Given the description of an element on the screen output the (x, y) to click on. 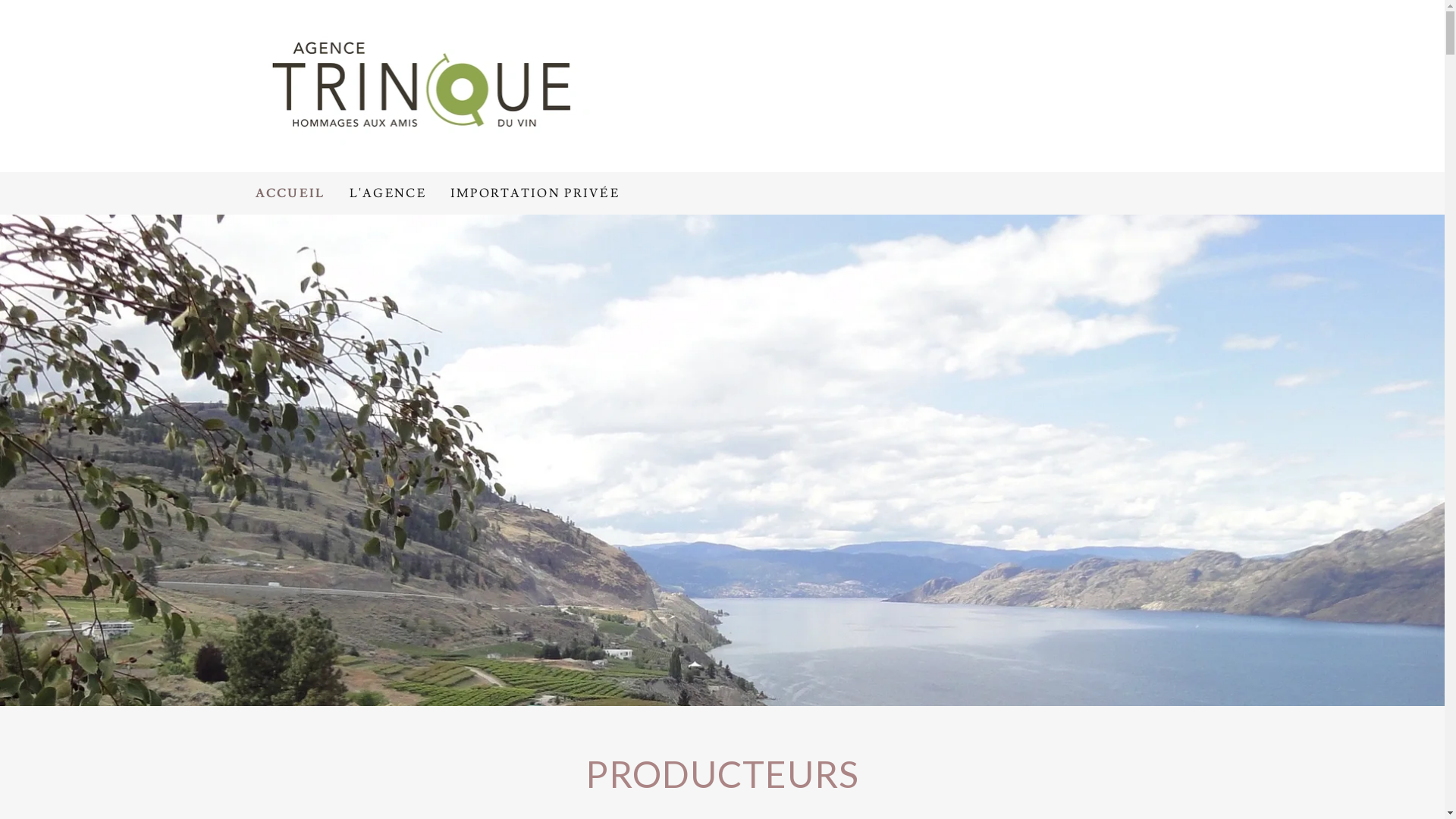
L'AGENCE Element type: text (387, 193)
Agence Trinque Element type: hover (424, 82)
ACCUEIL Element type: text (289, 193)
